Given the description of an element on the screen output the (x, y) to click on. 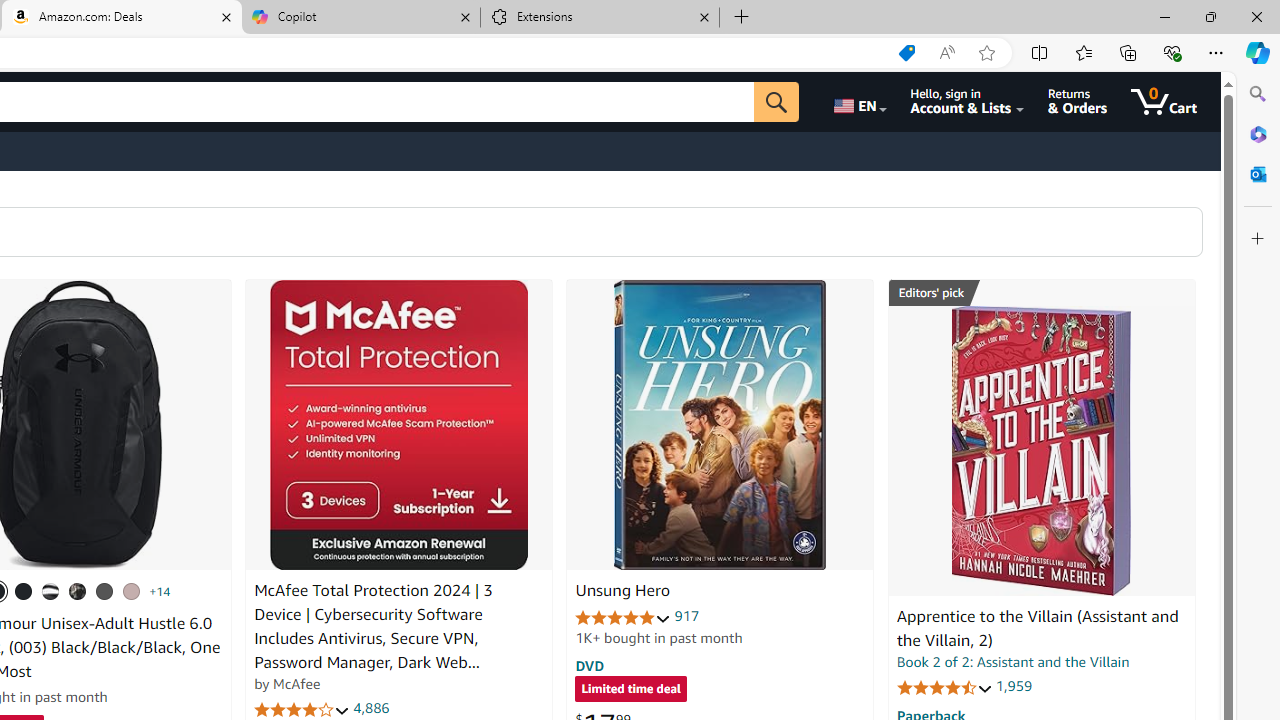
4.9 out of 5 stars (623, 616)
Apprentice to the Villain (Assistant and the Villain, 2) (1037, 628)
Returns & Orders (1077, 101)
+14 (159, 591)
917 (687, 616)
Unsung Hero (720, 425)
(015) Tetra Gray / Tetra Gray / Gray Matter (131, 591)
Choose a language for shopping. (858, 101)
